Given the description of an element on the screen output the (x, y) to click on. 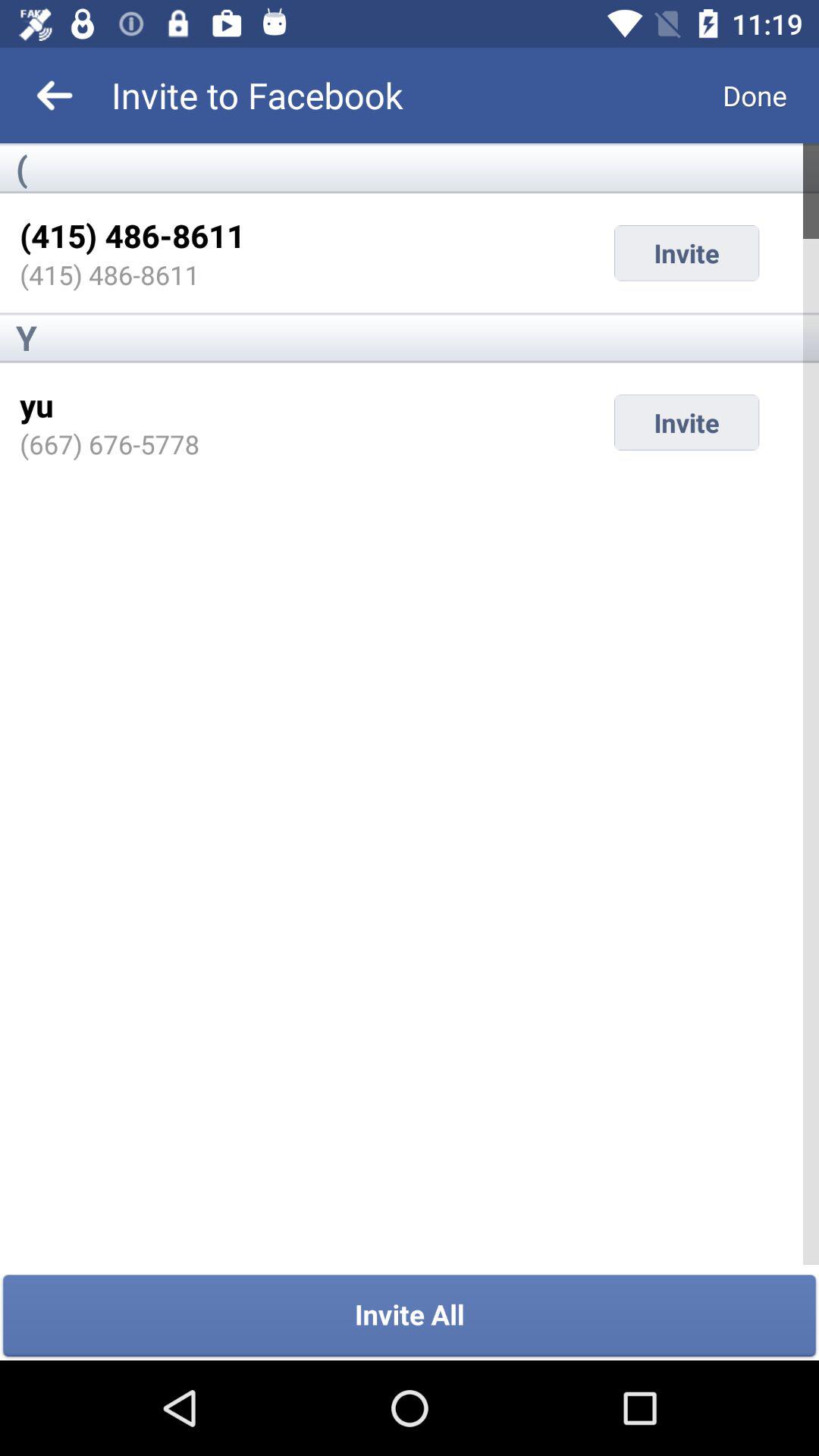
launch icon below the (667) 676-5778 icon (409, 1316)
